Given the description of an element on the screen output the (x, y) to click on. 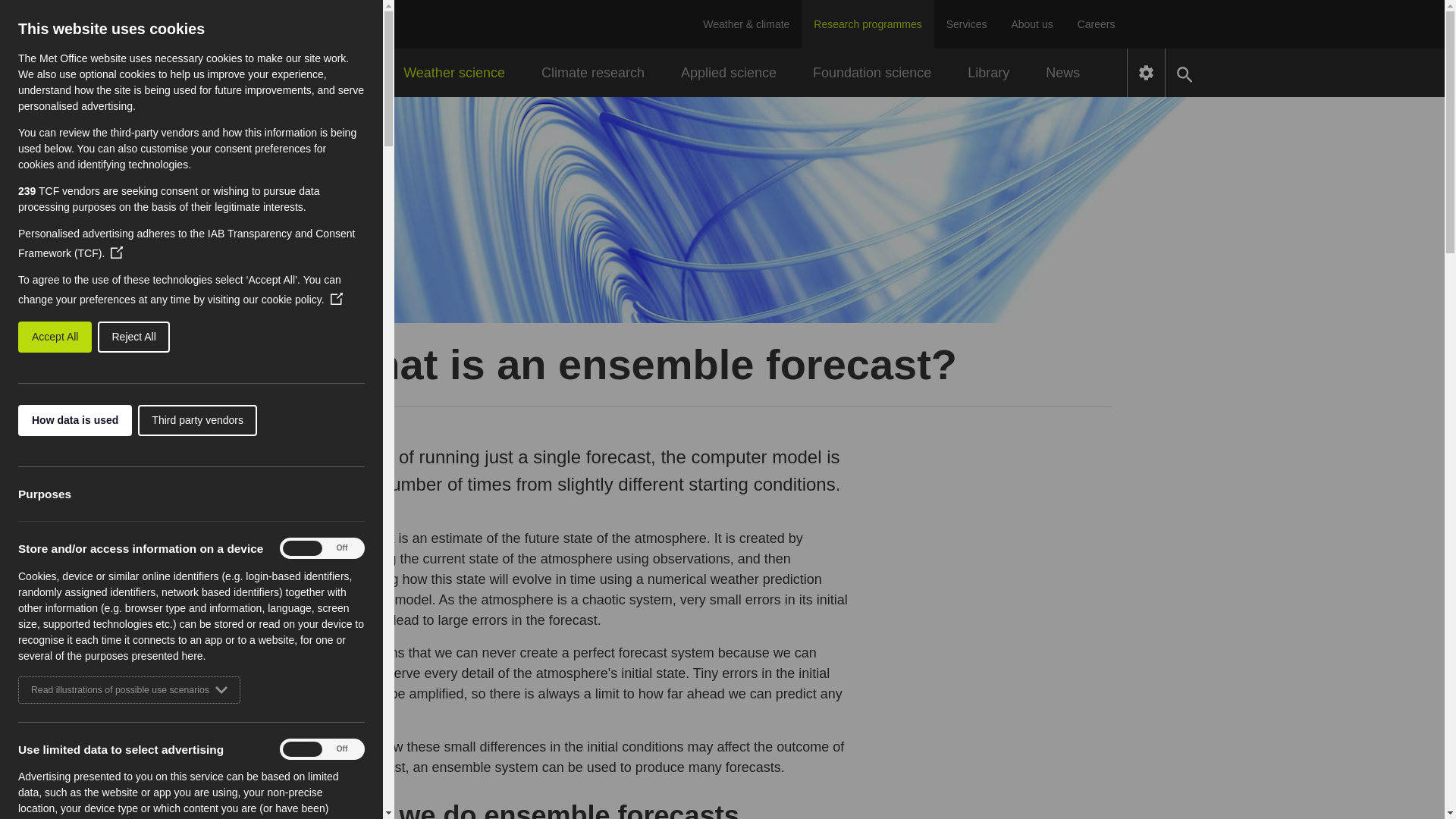
About us (1031, 24)
Expand search (1184, 73)
Reject All (55, 336)
How data is used (40, 419)
Careers (1095, 24)
Settings (1145, 72)
Services (966, 24)
Research programmes (867, 24)
Third party vendors (167, 419)
Read illustrations of possible use scenarios (113, 689)
